Given the description of an element on the screen output the (x, y) to click on. 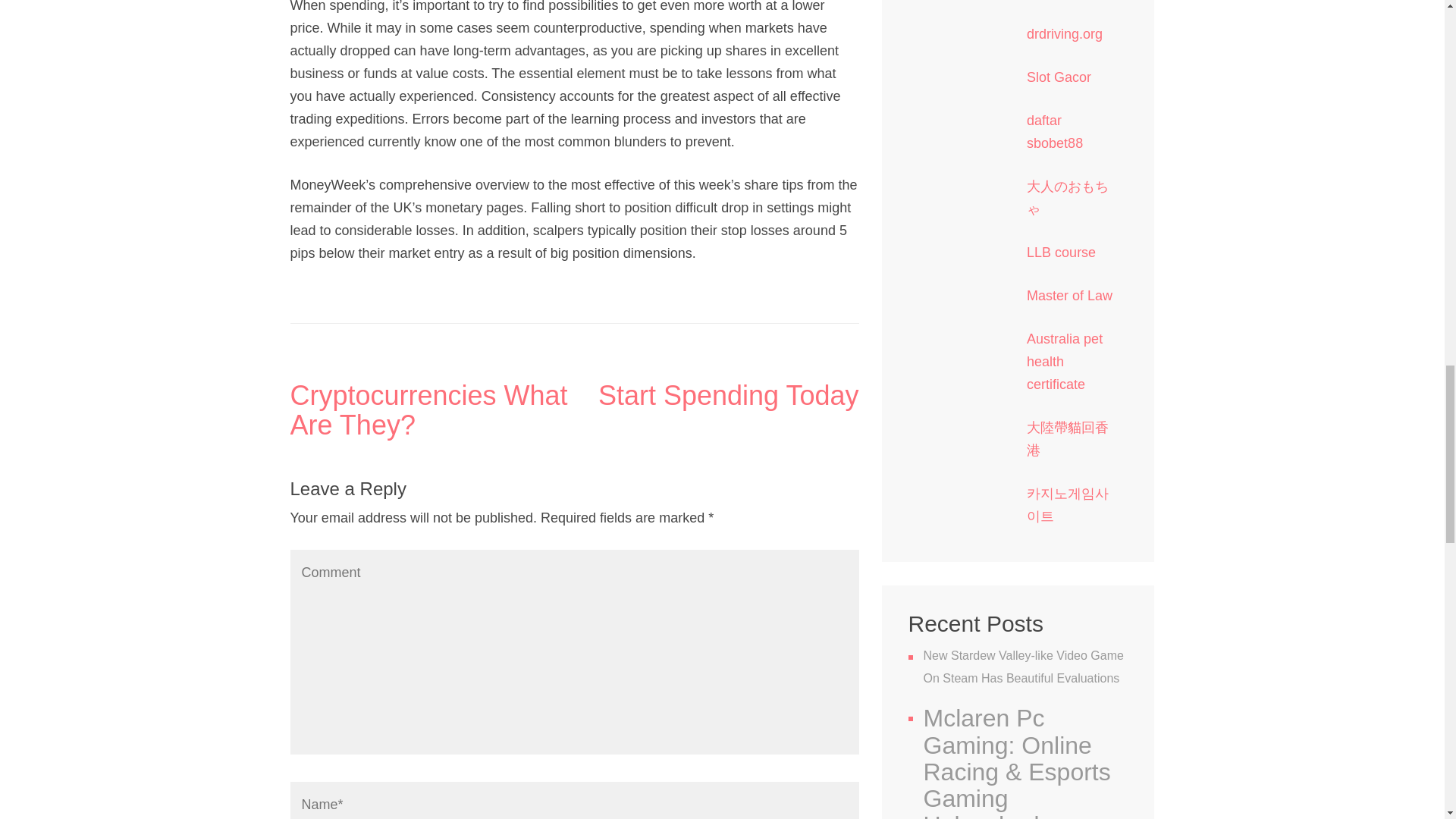
Cryptocurrencies What Are They? (431, 410)
Start Spending Today (717, 395)
drdriving.org (1064, 33)
